Given the description of an element on the screen output the (x, y) to click on. 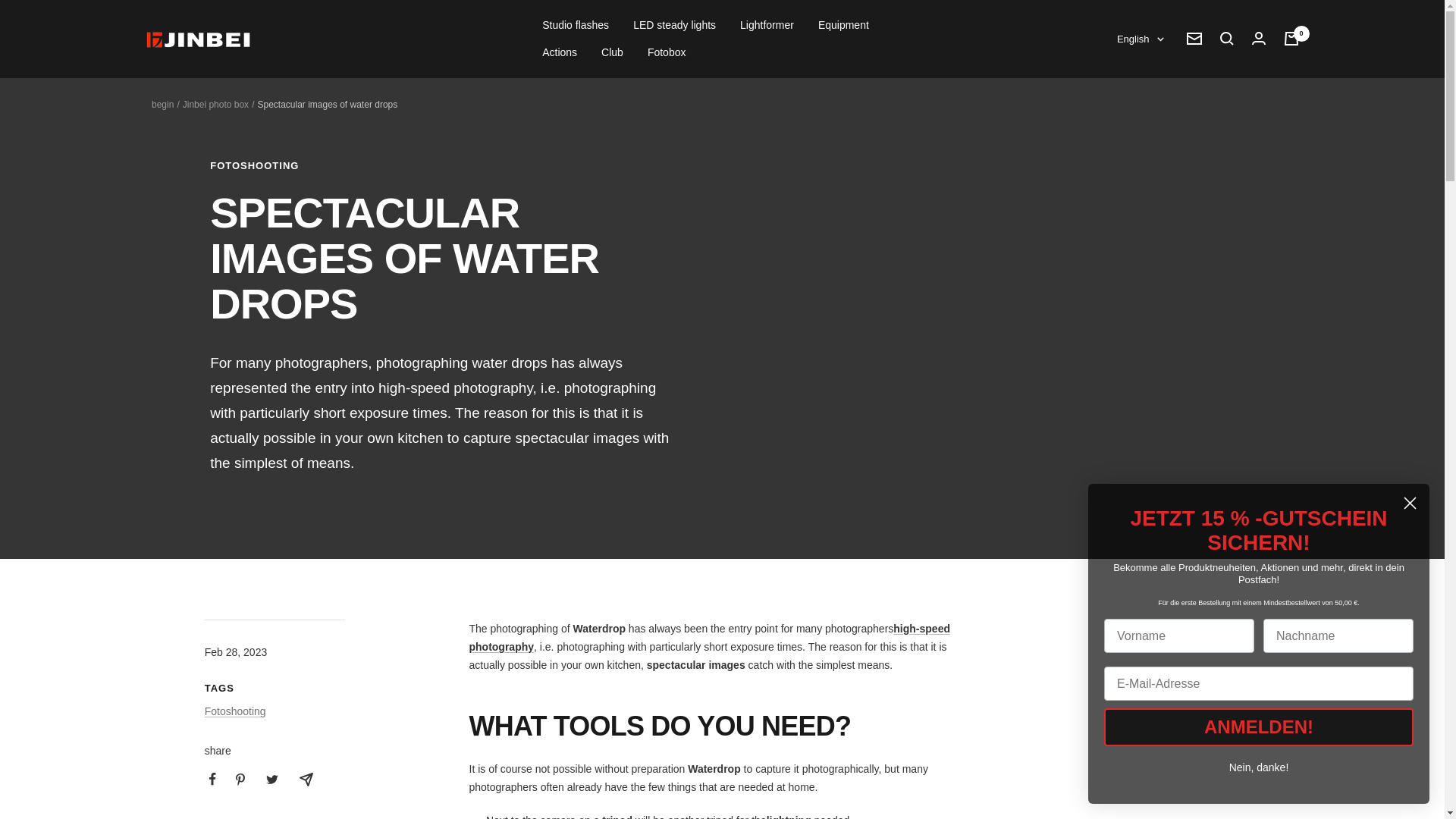
Newsletter (1194, 38)
de (1130, 89)
0 (1291, 38)
English (1139, 39)
LED steady lights (674, 24)
begin (162, 104)
high-speed photography (708, 637)
Club (612, 52)
en (1130, 113)
lightning (788, 816)
Equipment (843, 24)
Fotobox (666, 52)
Jinbei (198, 38)
Jinbei Studioblitze (788, 816)
FOTOSHOOTING (438, 165)
